Given the description of an element on the screen output the (x, y) to click on. 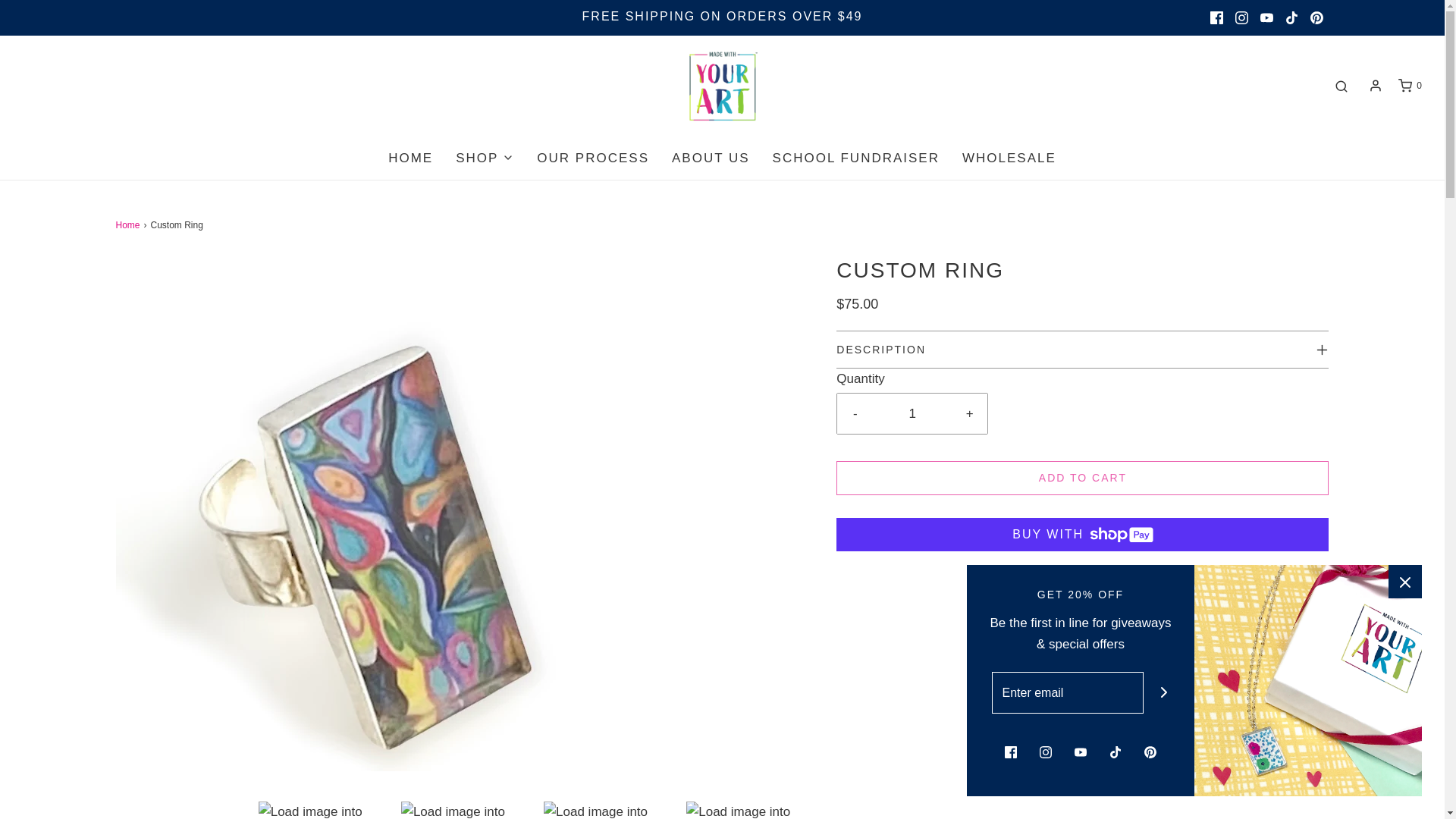
HOME (410, 157)
WHOLESALE (1009, 157)
SHOP (484, 157)
Search (1341, 85)
1 (911, 413)
TIKTOK ICON (1291, 17)
SCHOOL FUNDRAISER (856, 157)
Log in (1375, 85)
PINTEREST ICON (1316, 17)
YOUTUBE ICON (1266, 17)
INSTAGRAM ICON (1240, 17)
INSTAGRAM ICON (1240, 17)
PINTEREST ICON (1316, 17)
TIKTOK ICON (1291, 17)
0 (1409, 85)
